Given the description of an element on the screen output the (x, y) to click on. 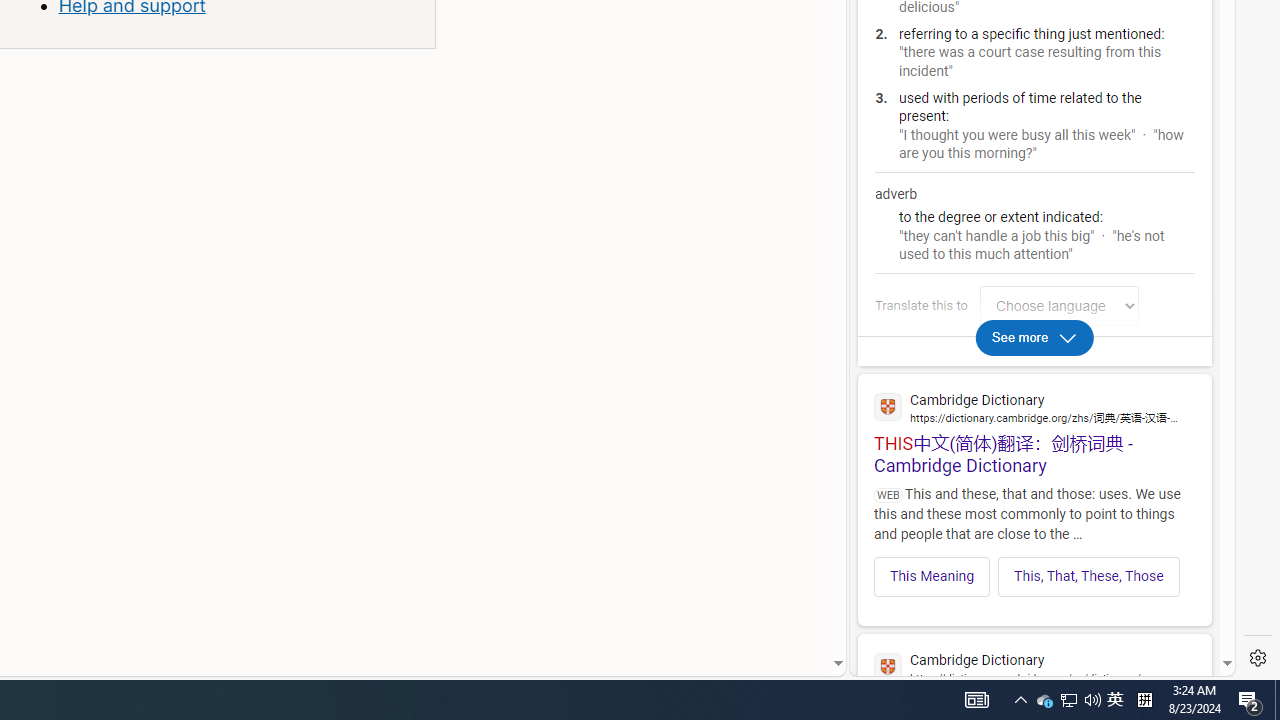
Translate this to Choose language (1059, 305)
Link for logging (1064, 305)
This, That, These, Those (1088, 575)
This MeaningThis, That, These, Those (1034, 570)
This Meaning (932, 575)
Cambridge Dictionary (1034, 666)
This Meaning (932, 575)
